Given the description of an element on the screen output the (x, y) to click on. 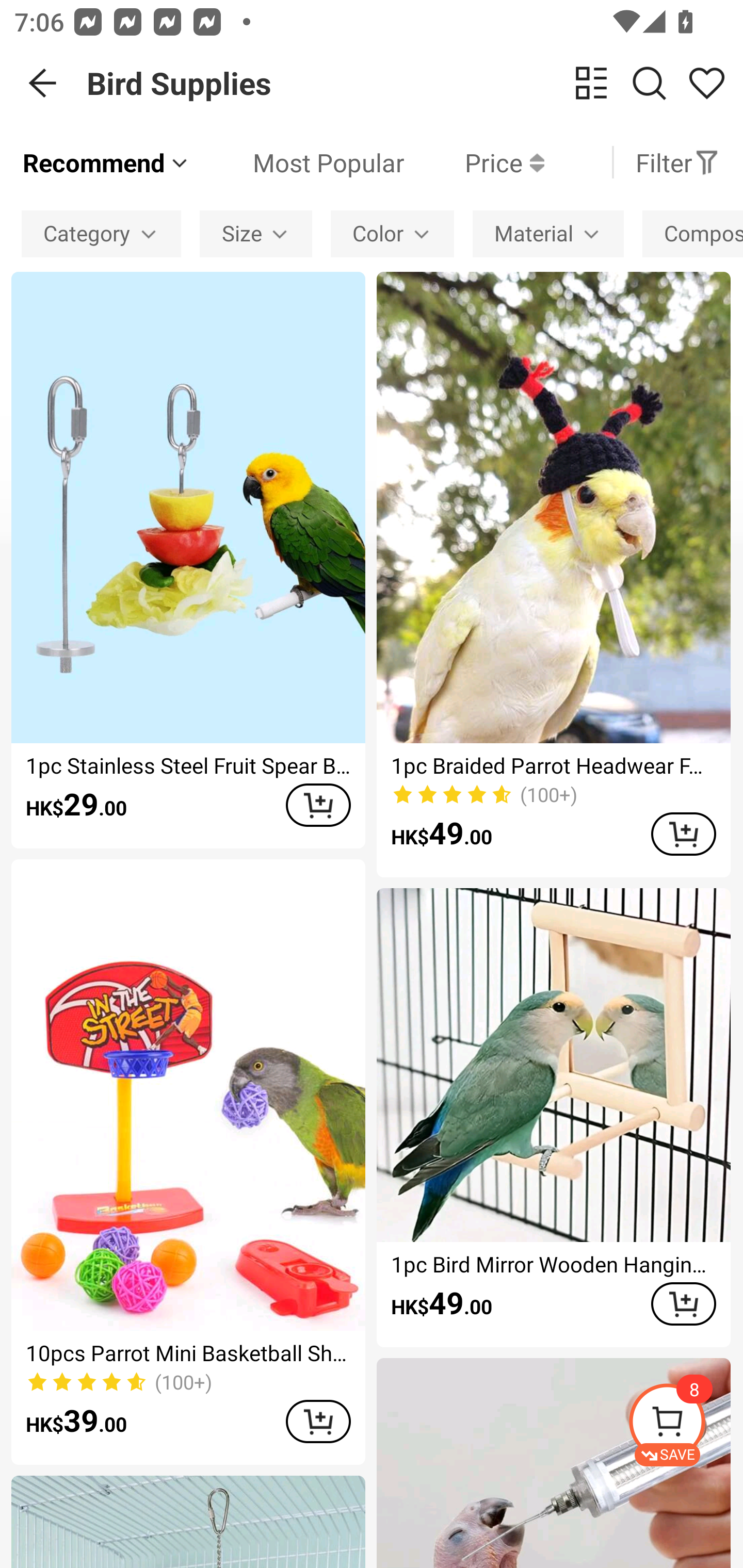
Bird Supplies change view Search Share (414, 82)
change view (591, 82)
Search (648, 82)
Share (706, 82)
Recommend (106, 162)
Most Popular (297, 162)
Price (474, 162)
Filter (677, 162)
Category (101, 233)
Size (255, 233)
Color (391, 233)
Material (548, 233)
Composition (692, 233)
ADD TO CART (318, 805)
ADD TO CART (683, 834)
ADD TO CART (683, 1303)
SAVE (685, 1424)
ADD TO CART (318, 1421)
